Given the description of an element on the screen output the (x, y) to click on. 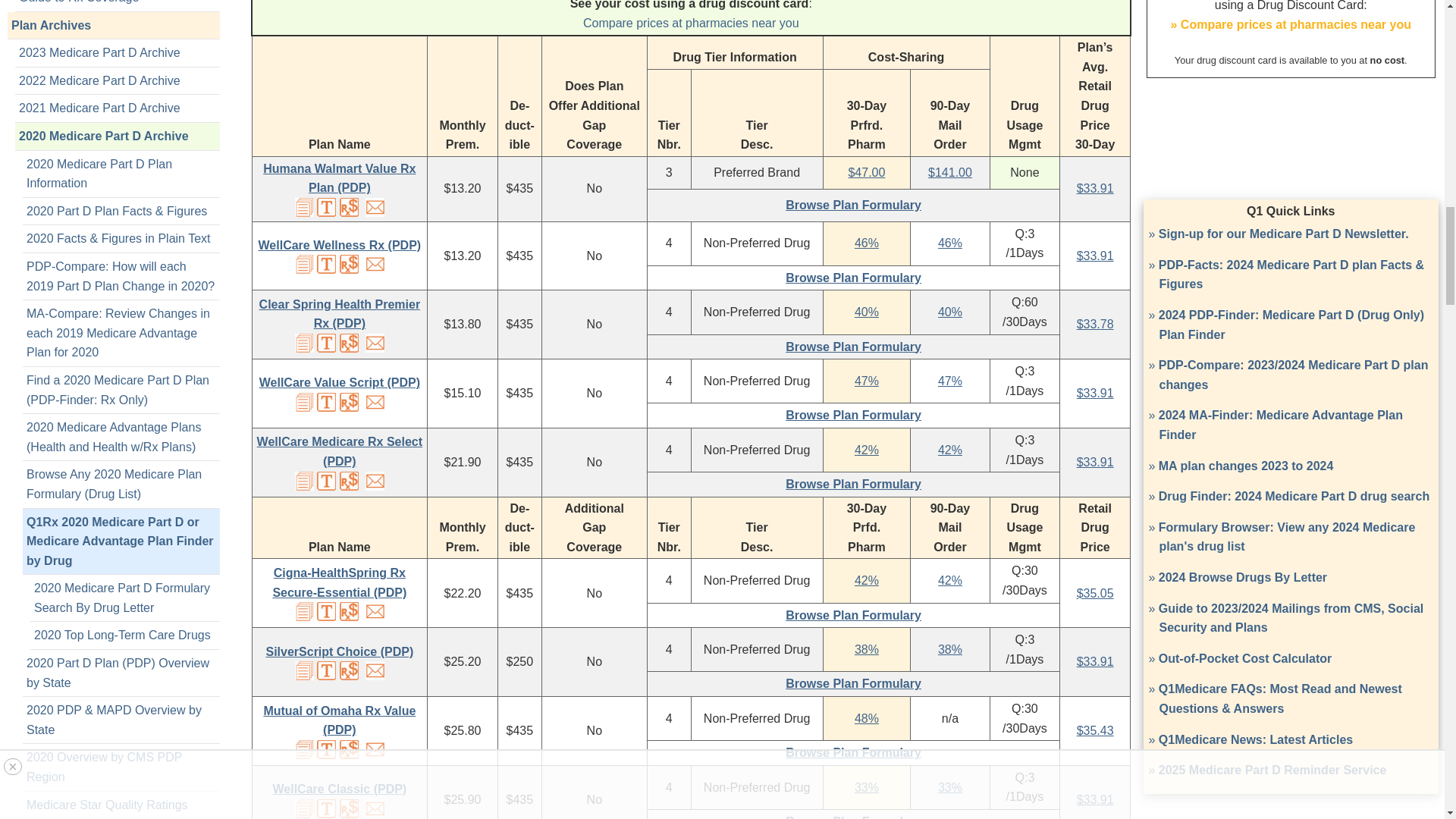
Review drug cost-sharing for all pharmacies and tiers (348, 207)
